Given the description of an element on the screen output the (x, y) to click on. 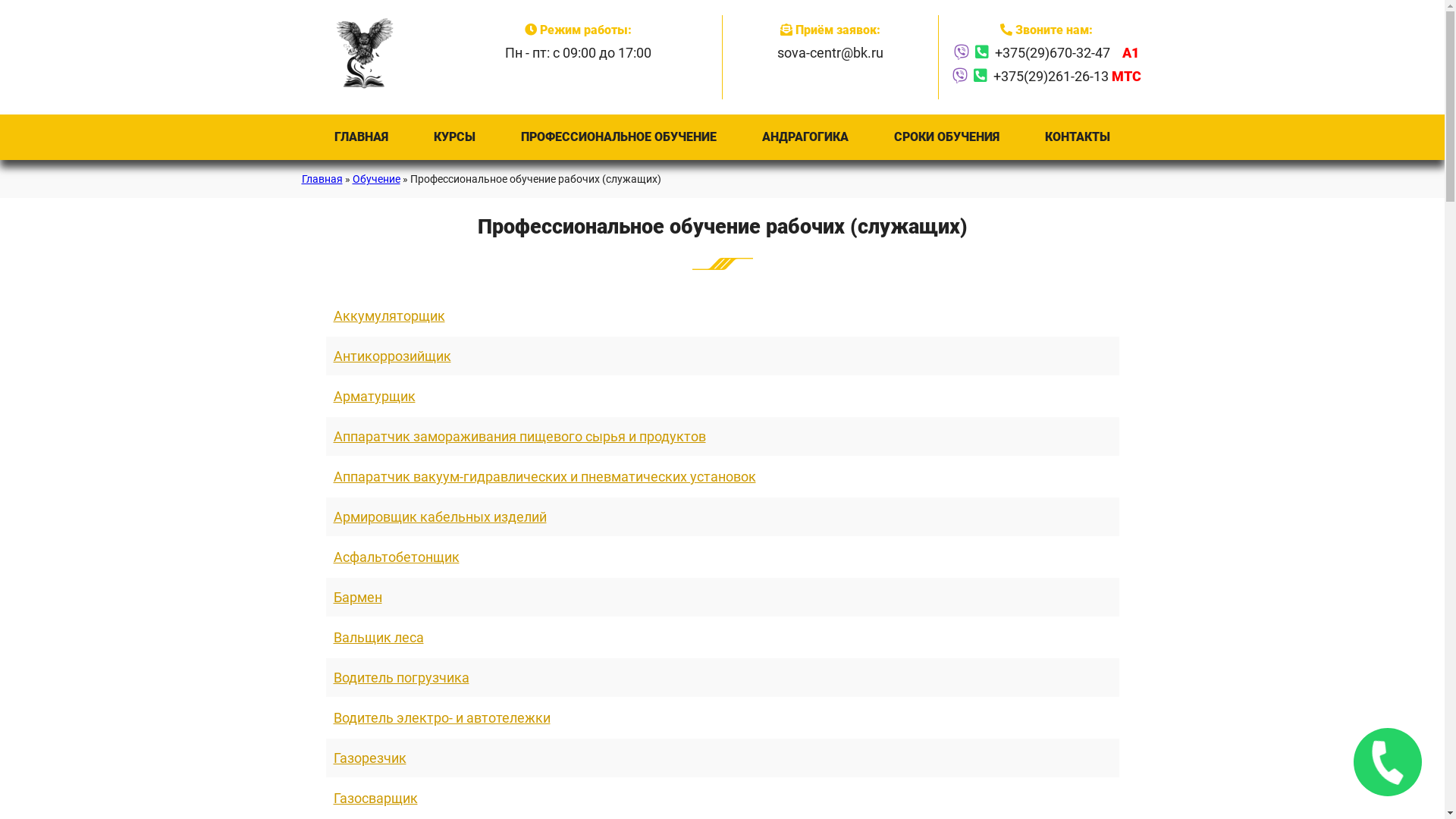
+375(29)670-32-47    A1 Element type: text (1066, 52)
sova-centr@bk.ru Element type: text (829, 52)
